Given the description of an element on the screen output the (x, y) to click on. 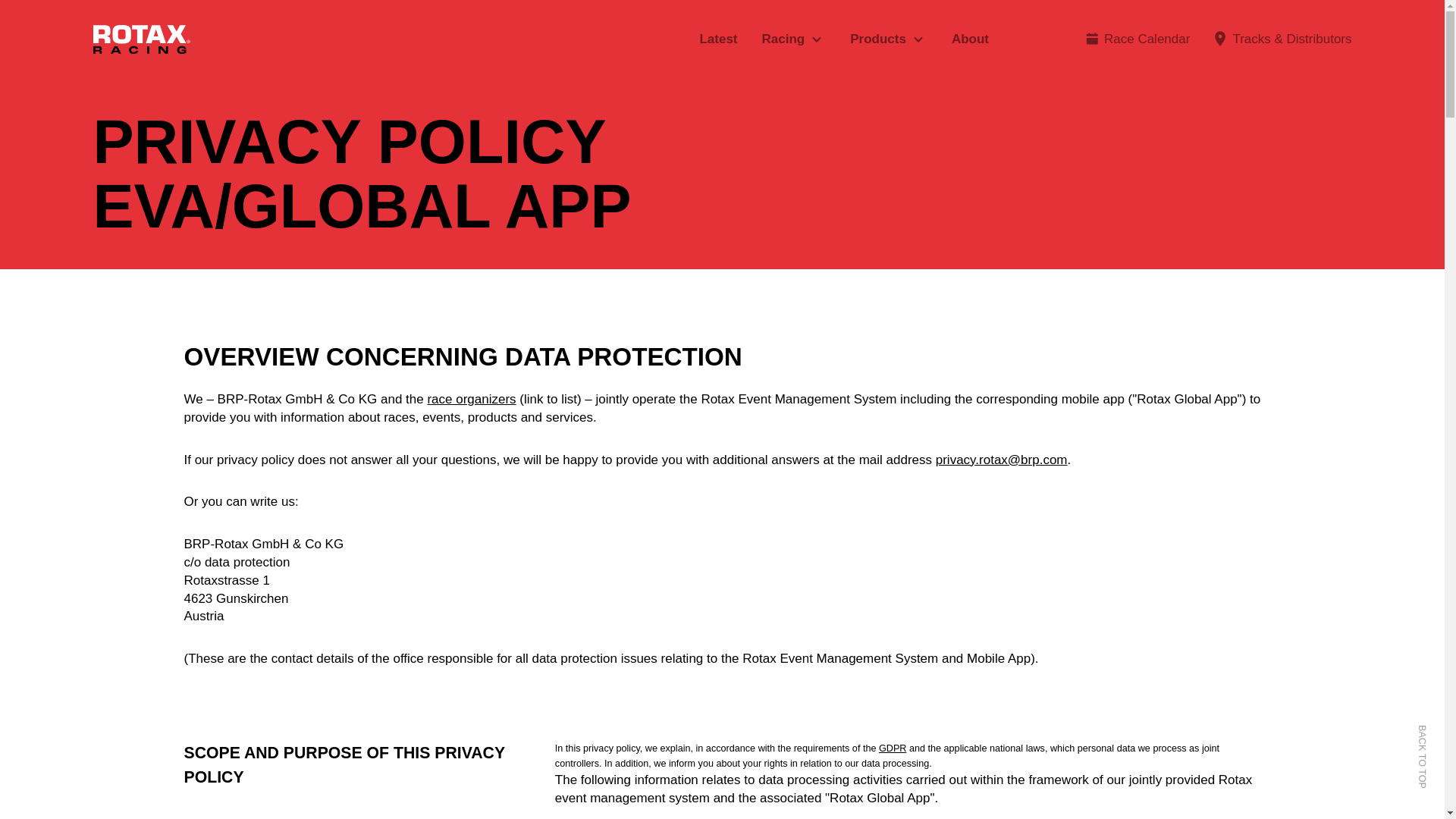
Products (877, 39)
Latest (717, 39)
Race Calendar (1146, 39)
About (970, 39)
GDPR (892, 747)
Racing (783, 39)
